Given the description of an element on the screen output the (x, y) to click on. 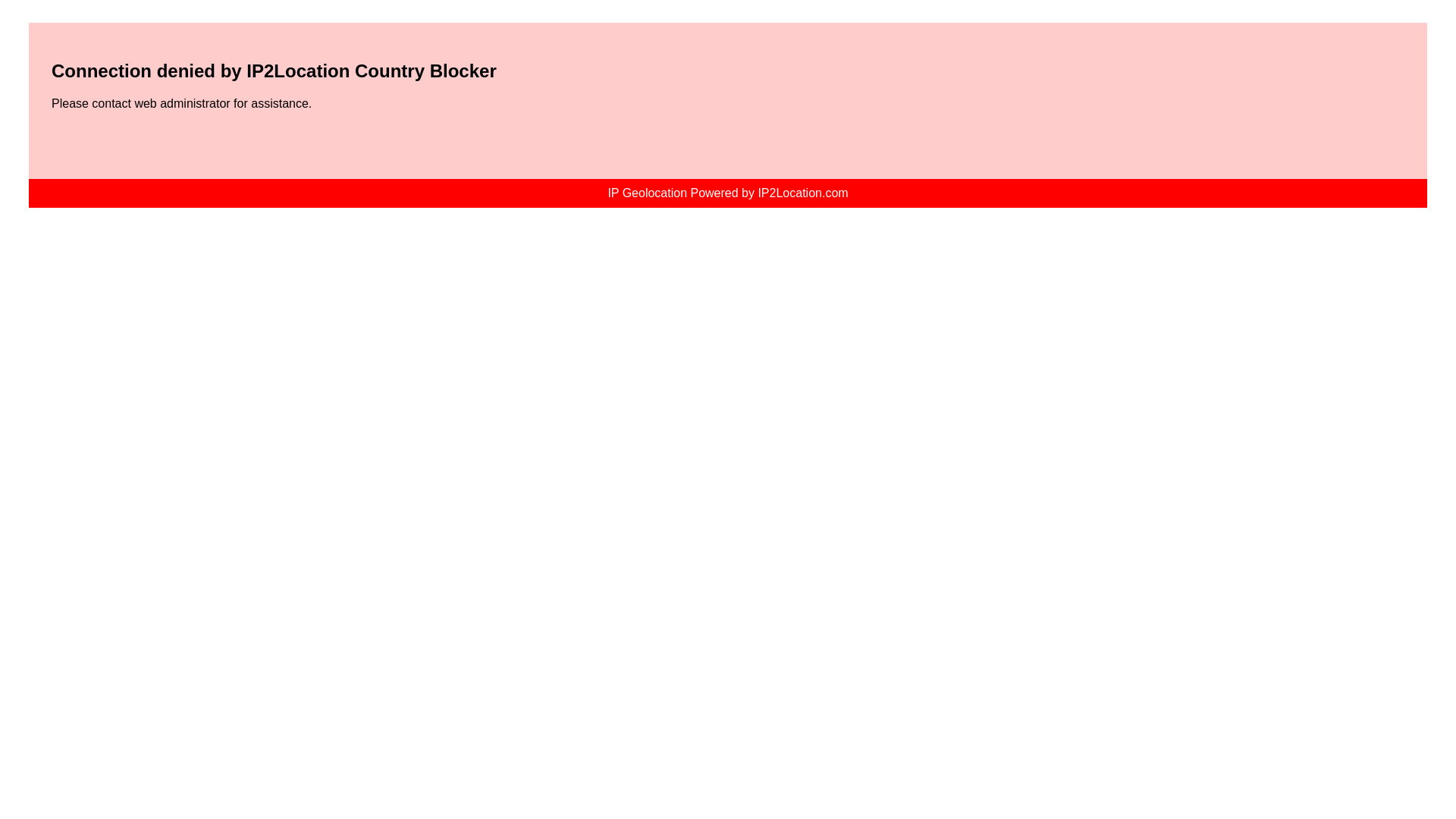
IP Geolocation Powered by IP2Location.com (727, 192)
